Given the description of an element on the screen output the (x, y) to click on. 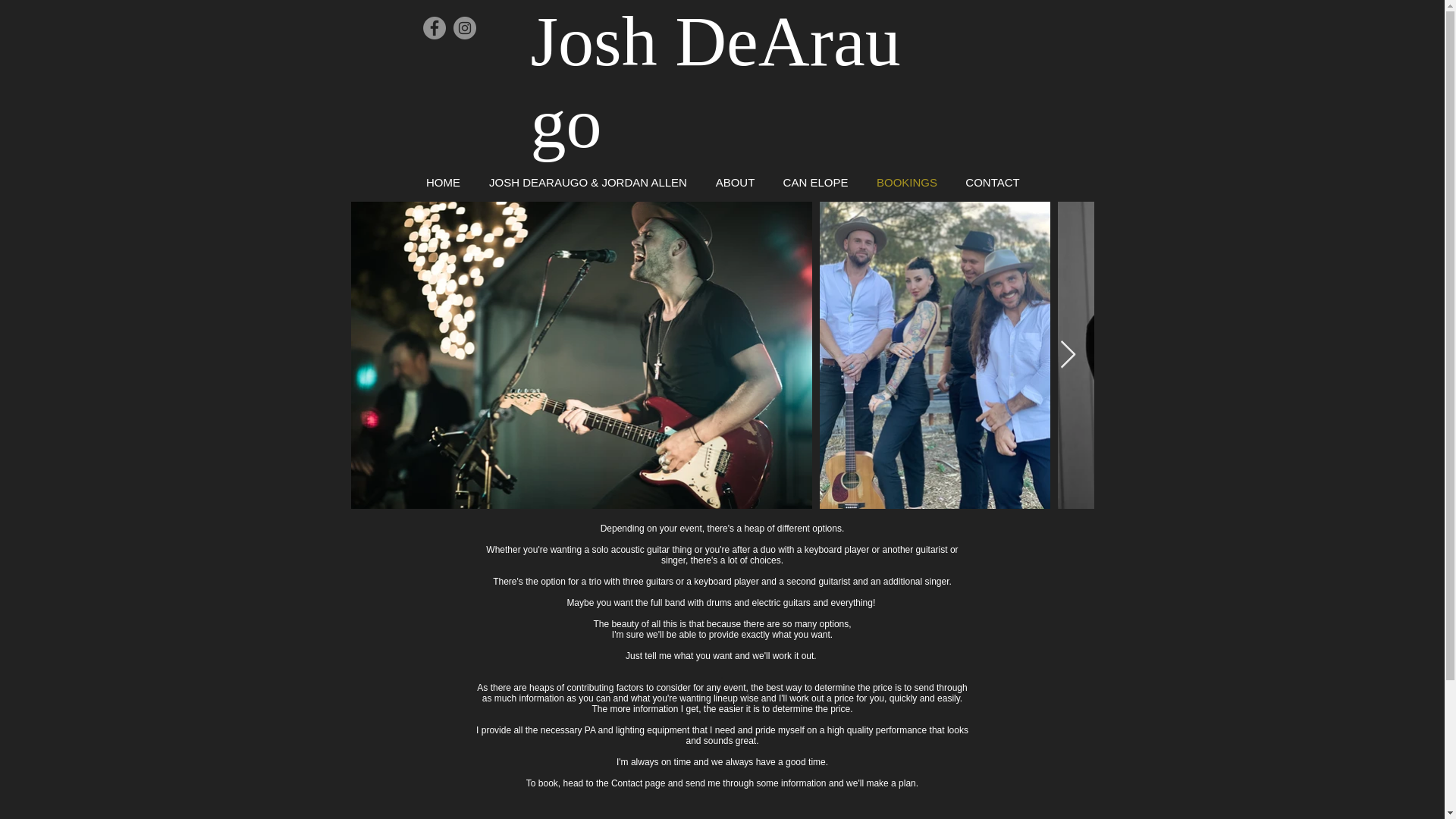
ABOUT (734, 182)
BOOKINGS (906, 182)
CONTACT (992, 182)
Josh  (603, 40)
CAN ELOPE (814, 182)
HOME (442, 182)
